Given the description of an element on the screen output the (x, y) to click on. 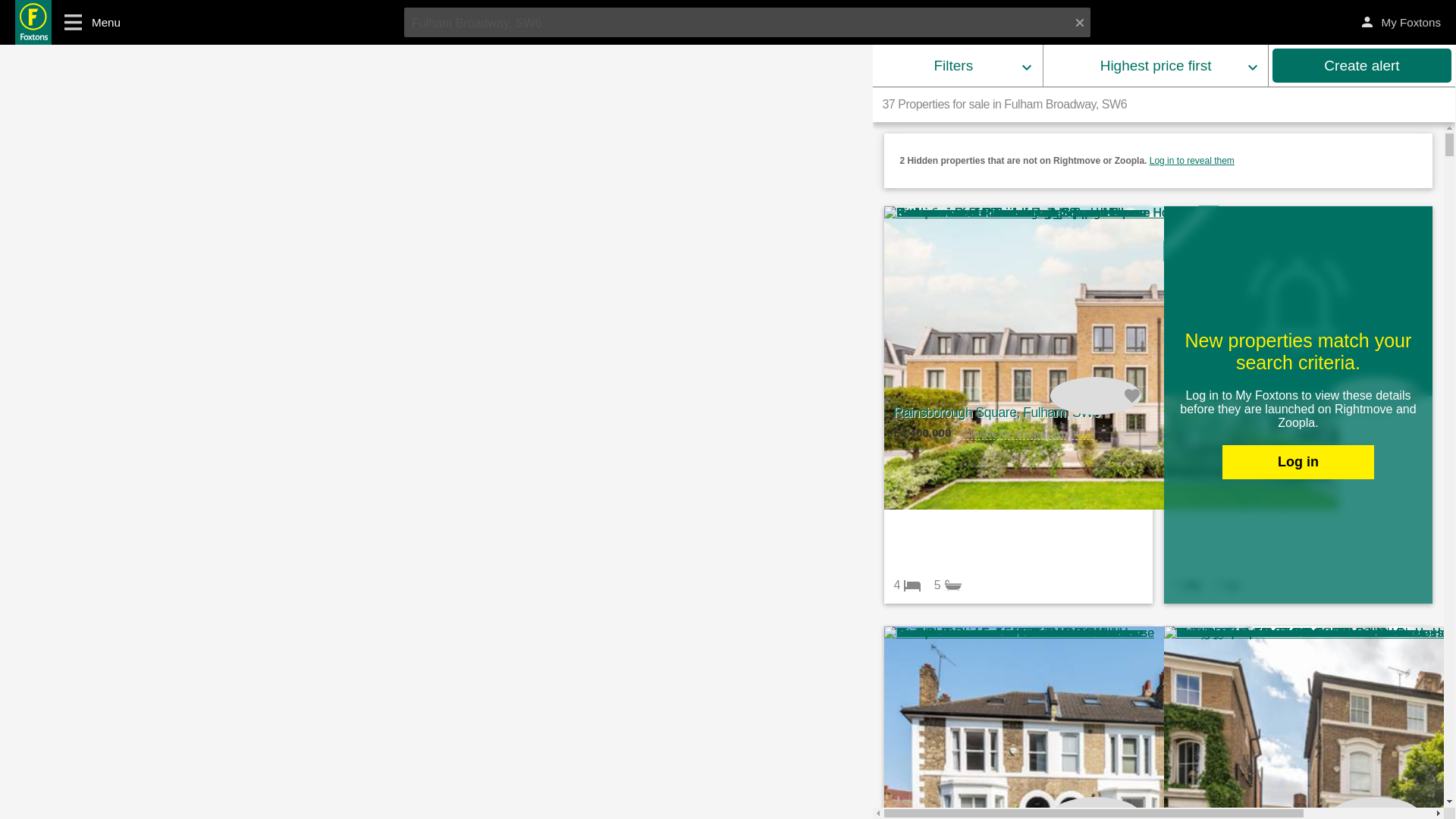
Highest price first (1155, 65)
Create alert (1361, 65)
Fulham Broadway, SW6 (747, 21)
Menu (86, 22)
My Foxtons (1401, 22)
Sneak Peek (1191, 233)
